Given the description of an element on the screen output the (x, y) to click on. 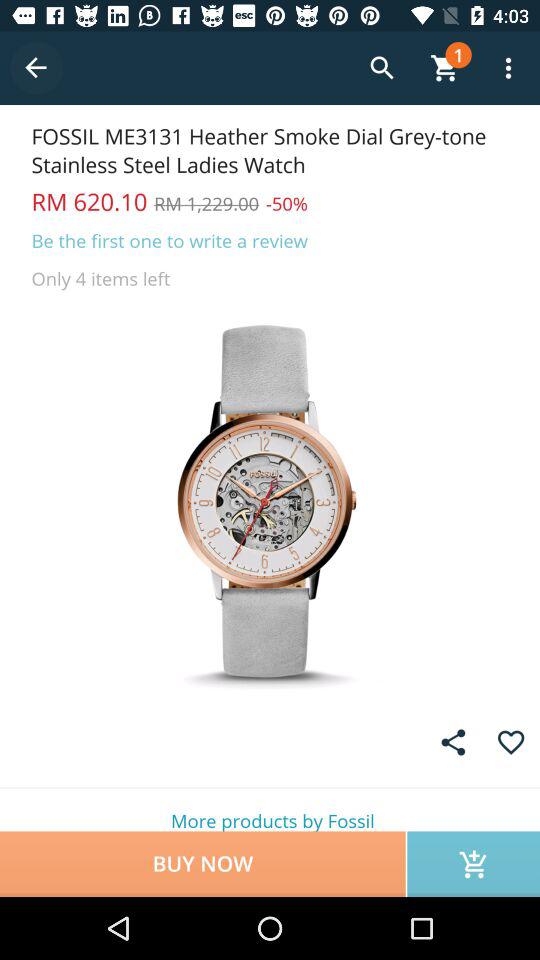
open image (269, 500)
